Given the description of an element on the screen output the (x, y) to click on. 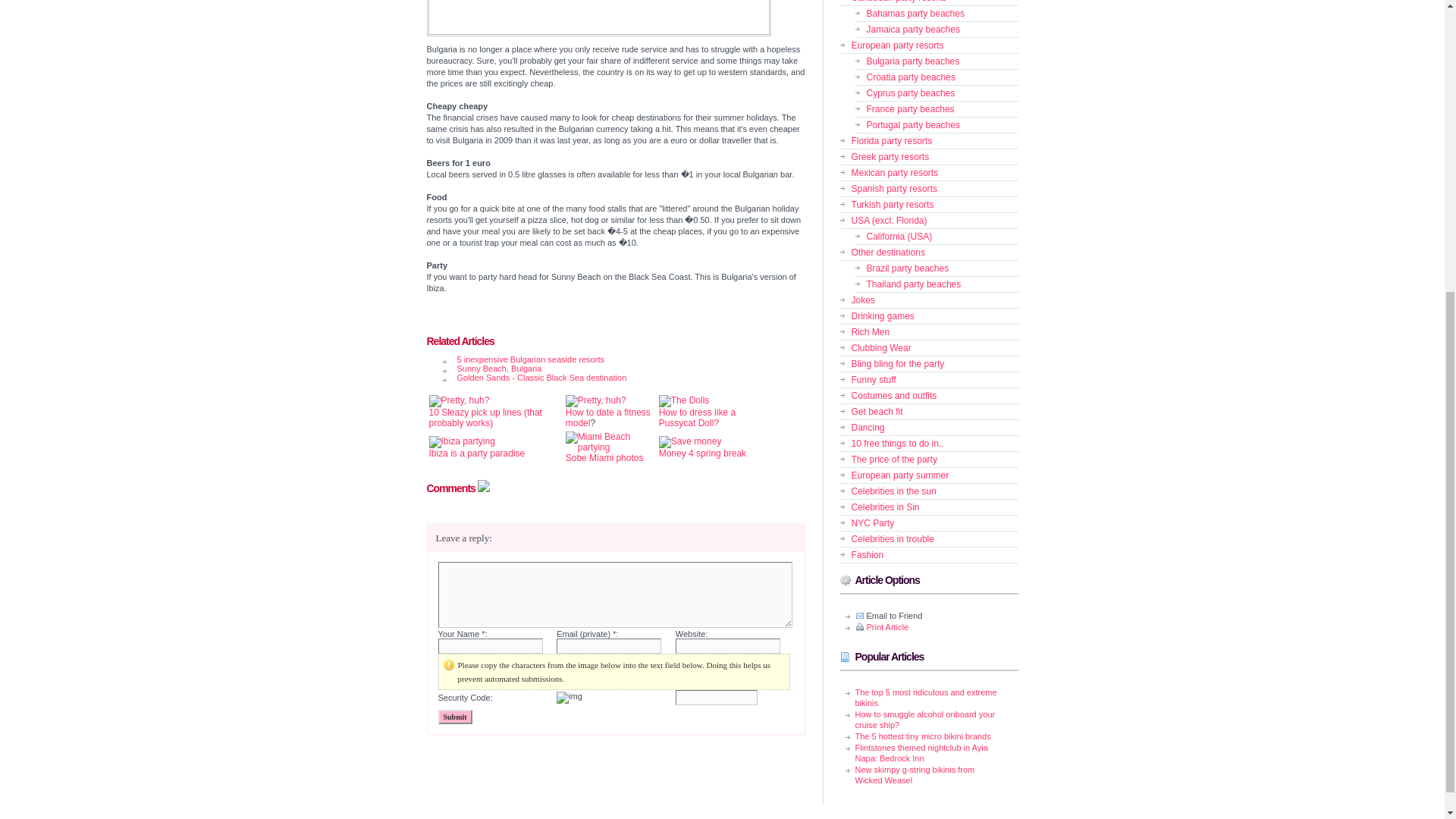
Money 4 spring break (702, 452)
5 inexpensive Bulgarian seaside resorts (623, 358)
Golden Sands - Classic Black Sea destination (623, 377)
Submit (454, 716)
Ibiza is a party paradise (477, 452)
How to date a fitness model (608, 417)
How to dress like a Pussycat Doll? (697, 411)
Sobe Miami photos (604, 457)
Sunny Beach, Bulgaria (623, 368)
